Given the description of an element on the screen output the (x, y) to click on. 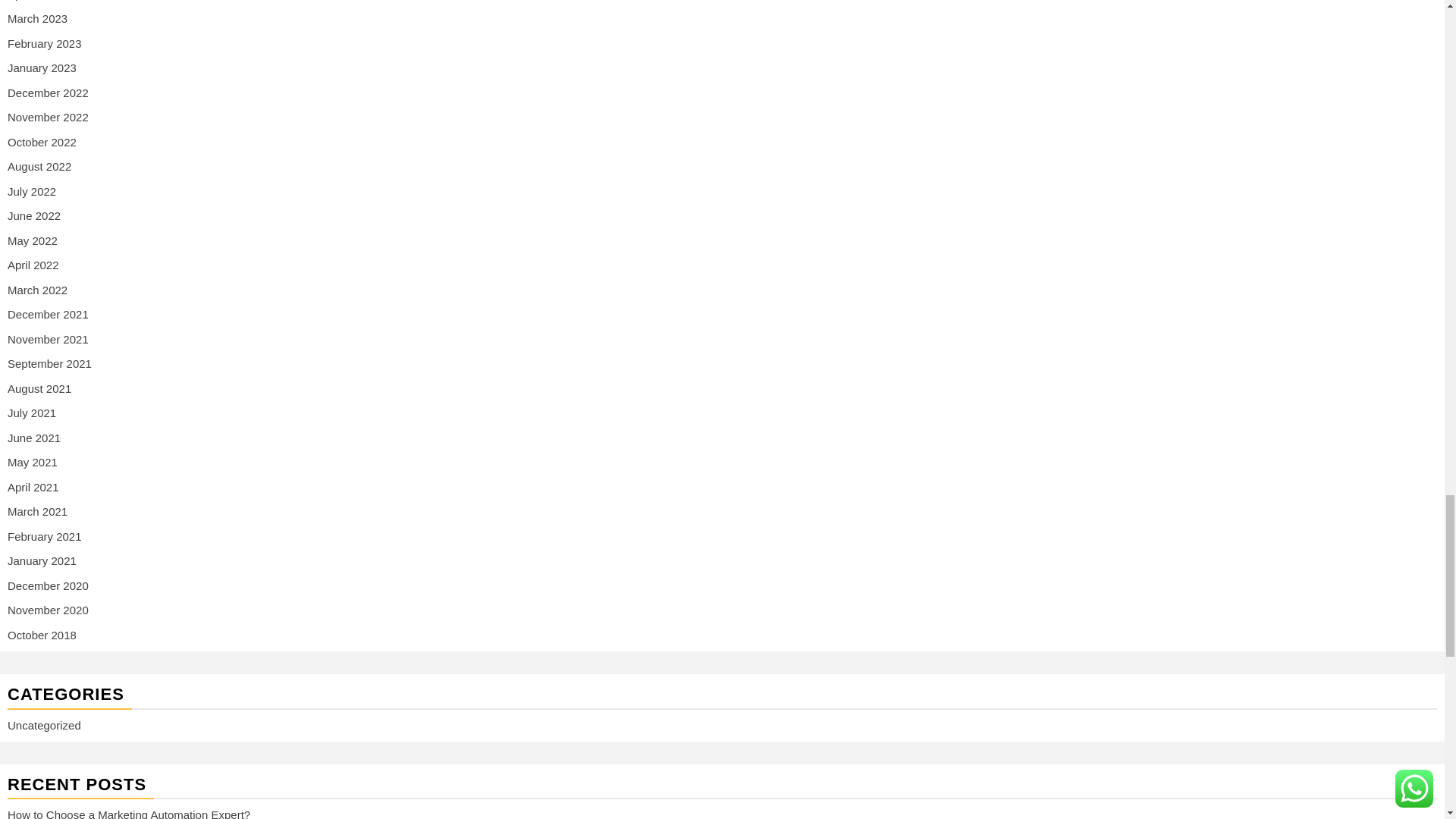
April 2023 (33, 0)
December 2022 (47, 92)
March 2023 (36, 18)
January 2023 (42, 67)
February 2023 (44, 42)
November 2022 (47, 116)
October 2022 (42, 141)
